Given the description of an element on the screen output the (x, y) to click on. 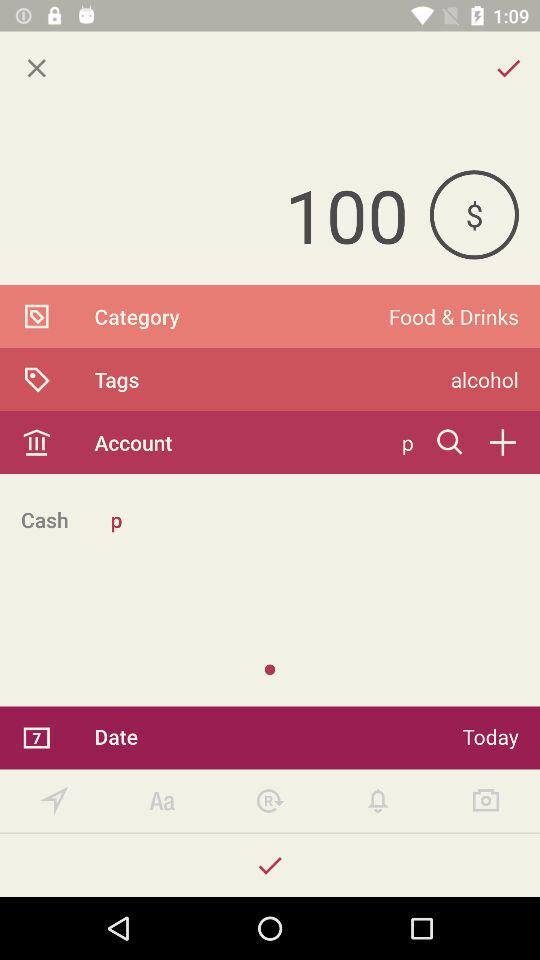
change font (162, 800)
